Given the description of an element on the screen output the (x, y) to click on. 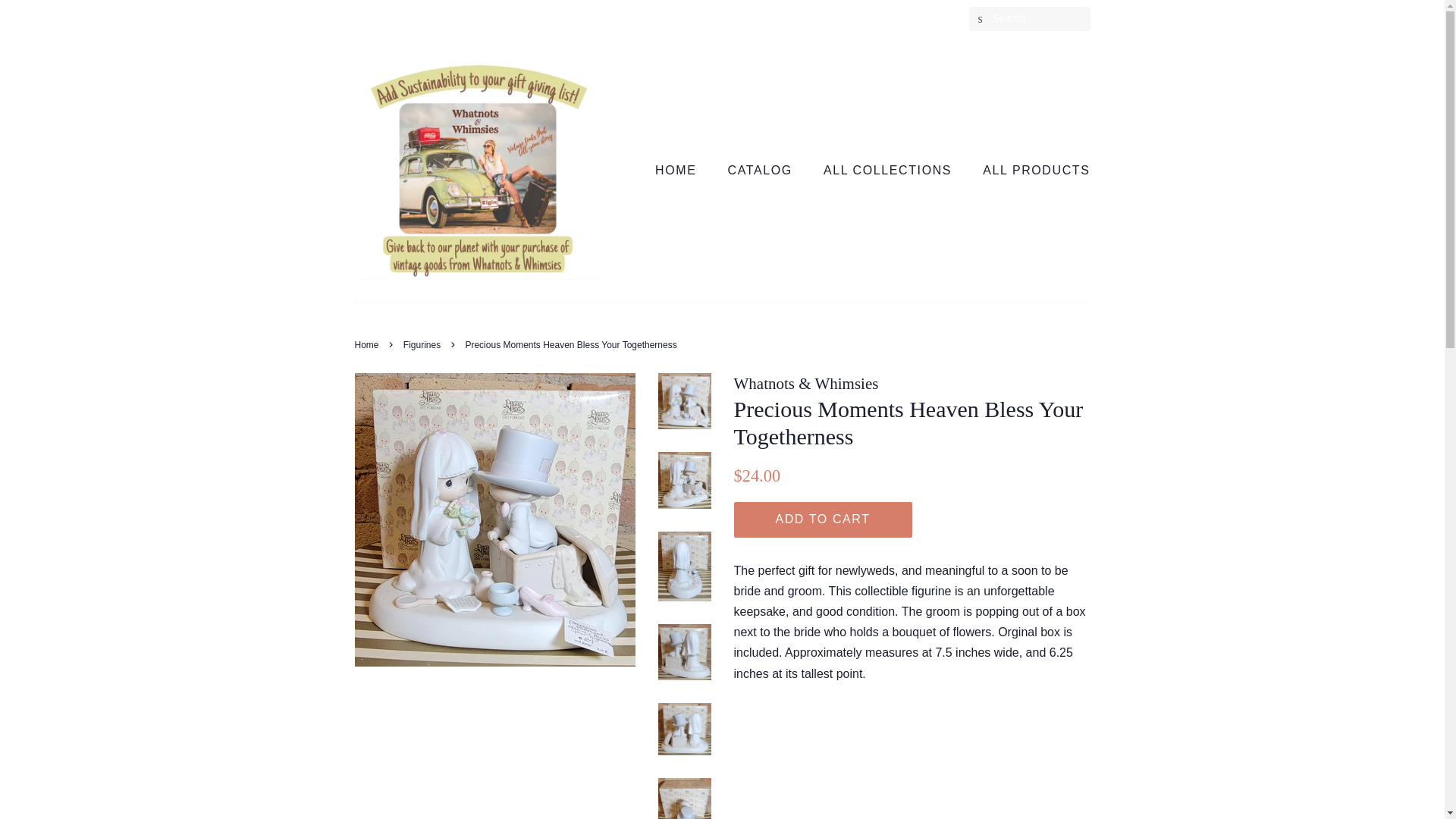
ALL PRODUCTS (1030, 169)
Log in (787, 18)
Cart (940, 18)
Home (368, 344)
Back to the frontpage (368, 344)
CATALOG (762, 169)
Figurines (423, 344)
HOME (683, 169)
Create account (862, 18)
ALL COLLECTIONS (889, 169)
SEARCH (980, 18)
ADD TO CART (822, 519)
